Given the description of an element on the screen output the (x, y) to click on. 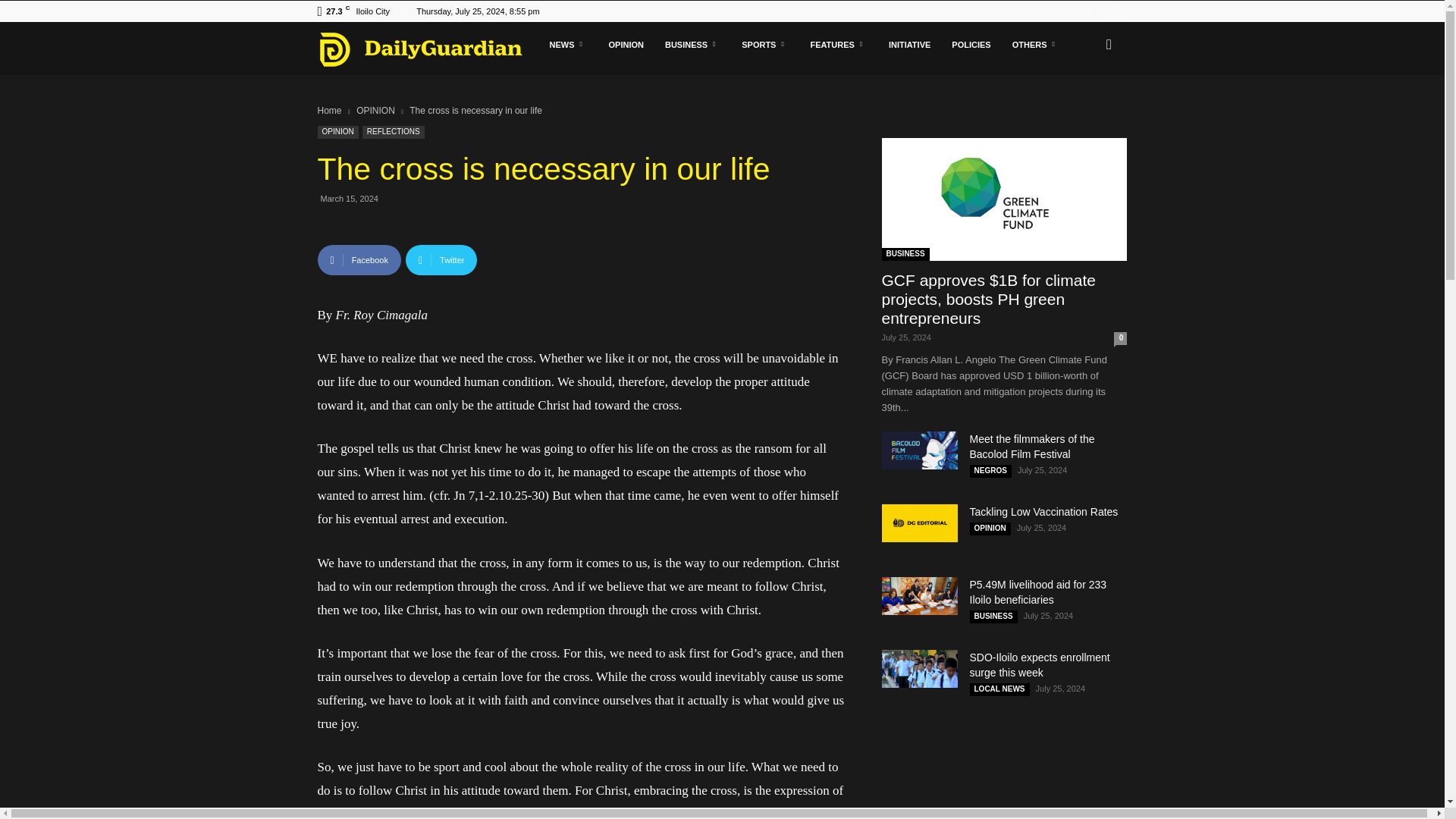
NEWS (567, 44)
Twitter (1114, 11)
We write, you decide. (419, 48)
Daily Guardian (427, 48)
Facebook (1090, 11)
